Given the description of an element on the screen output the (x, y) to click on. 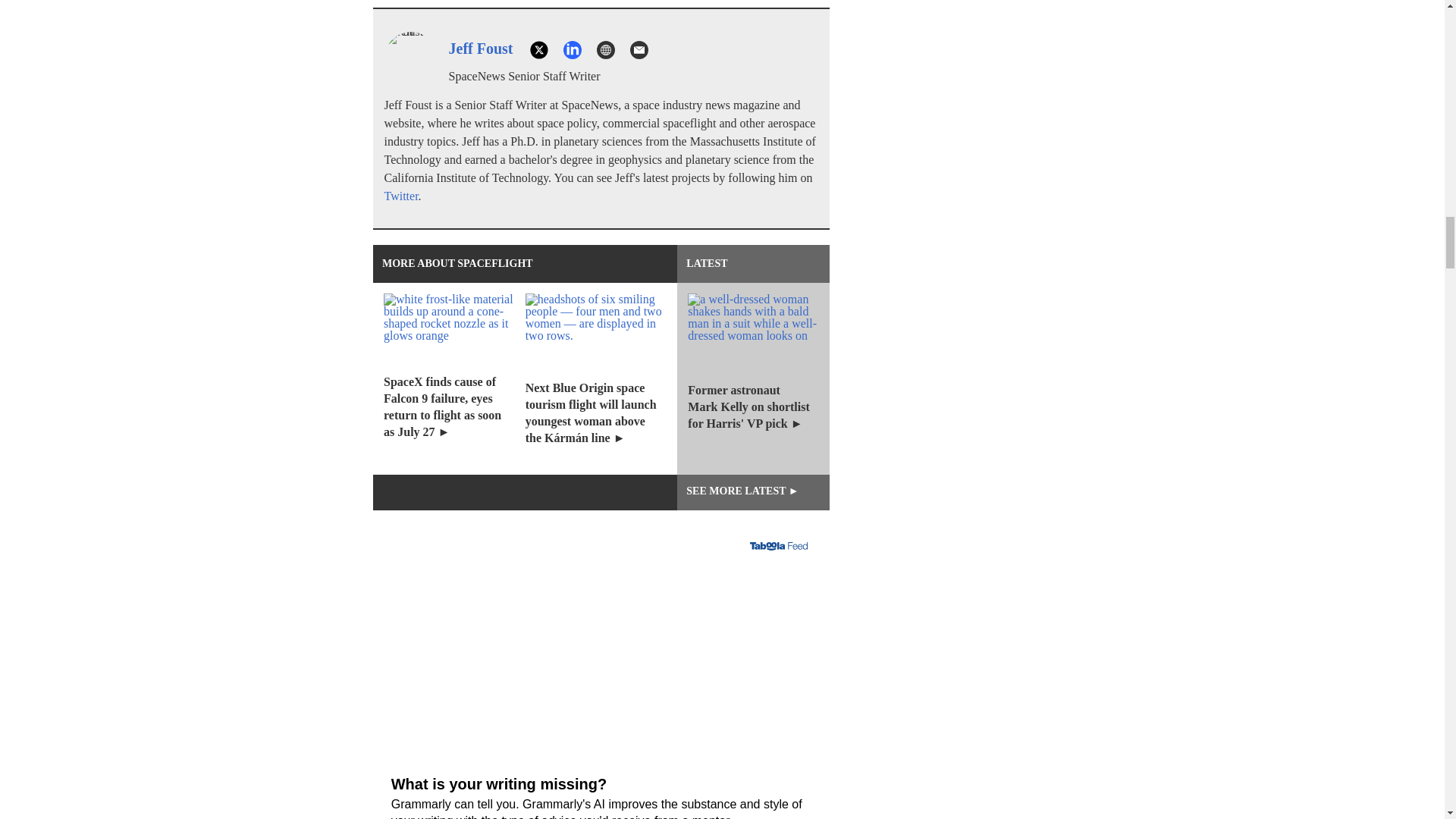
What is your writing missing? (600, 807)
